Given the description of an element on the screen output the (x, y) to click on. 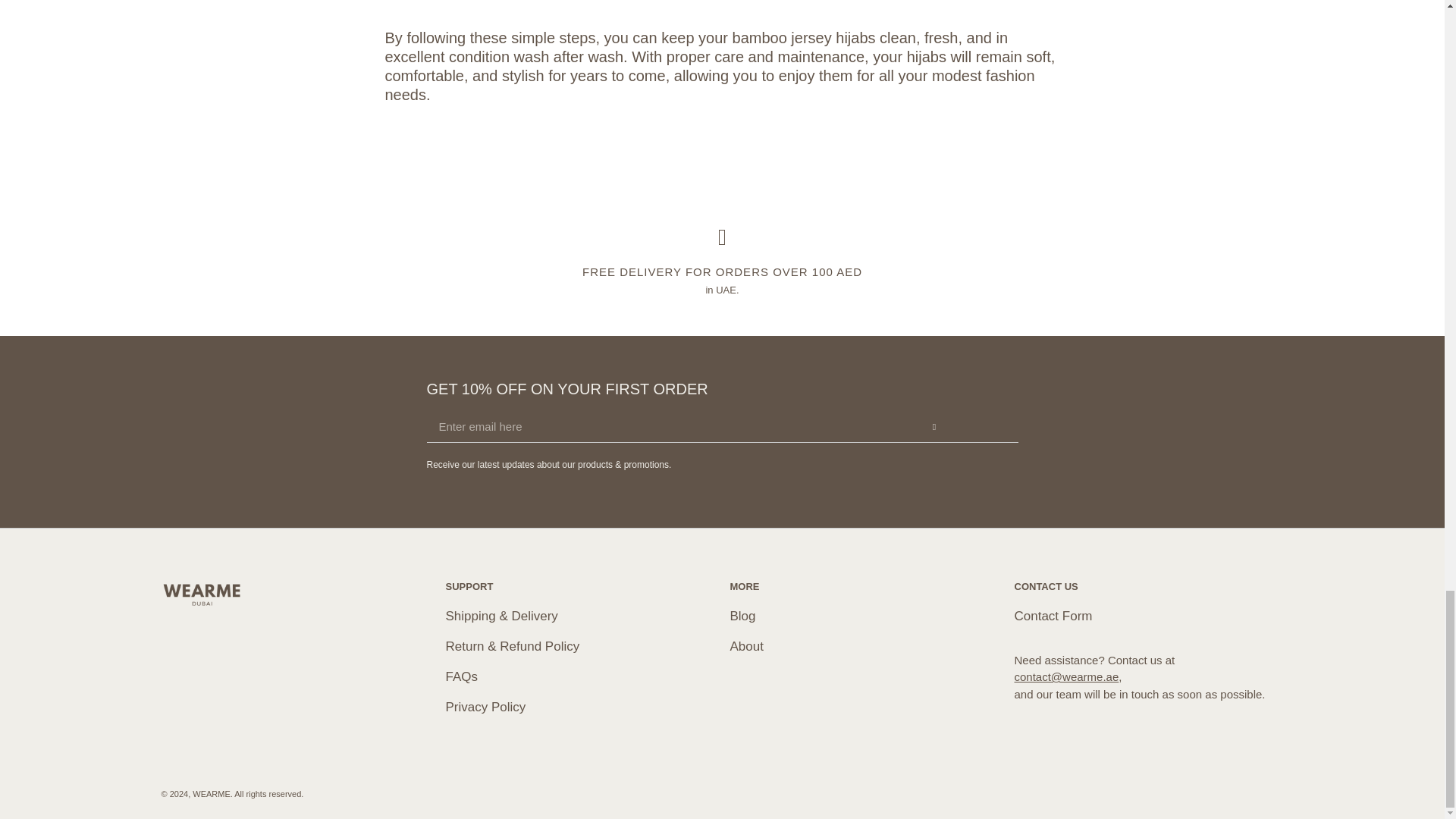
Blog (742, 616)
Privacy Policy (485, 707)
Contact Form (1053, 616)
FAQs (462, 676)
About (745, 646)
